Given the description of an element on the screen output the (x, y) to click on. 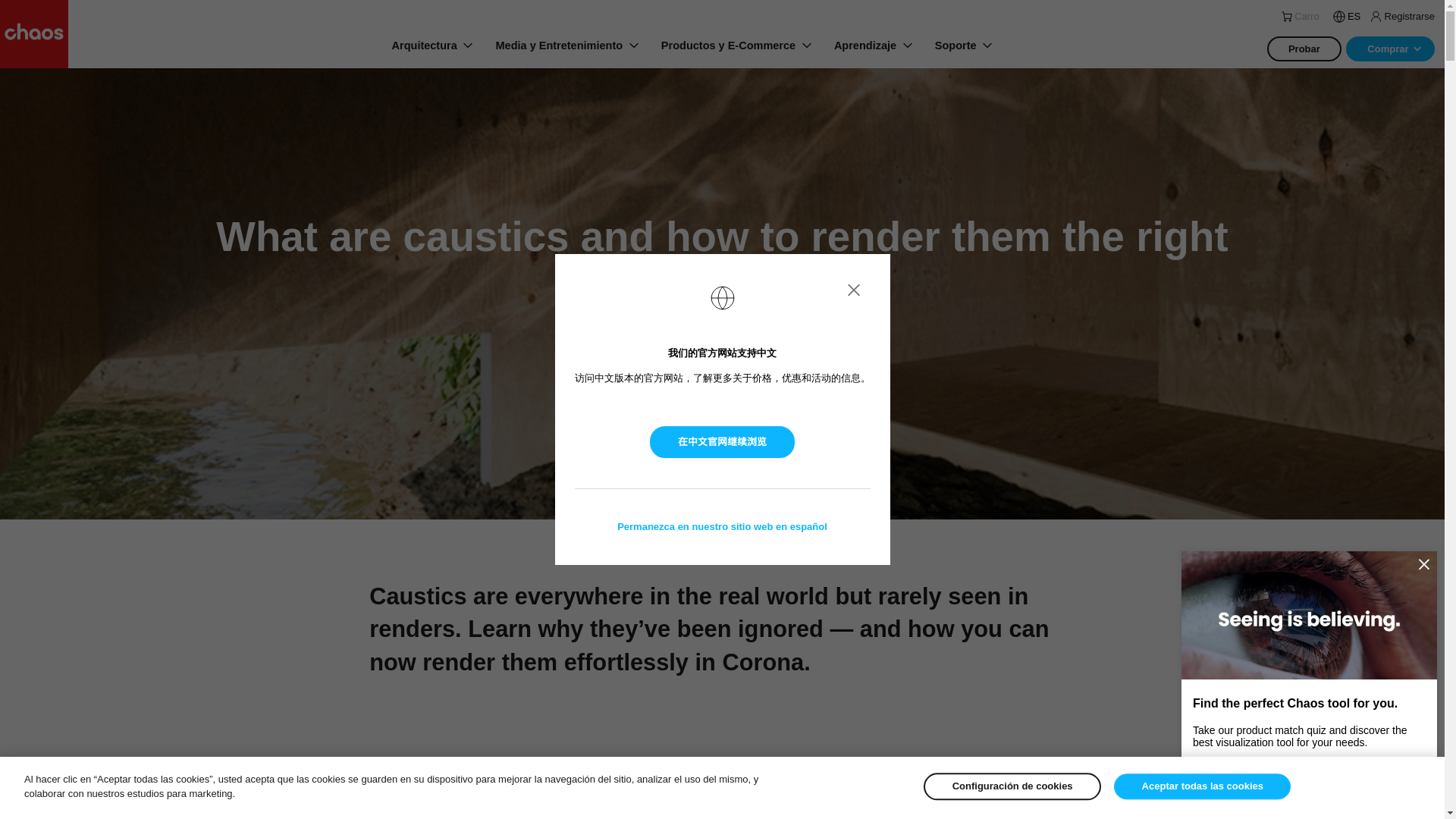
Carro (1302, 16)
Registrarse (1399, 16)
